Given the description of an element on the screen output the (x, y) to click on. 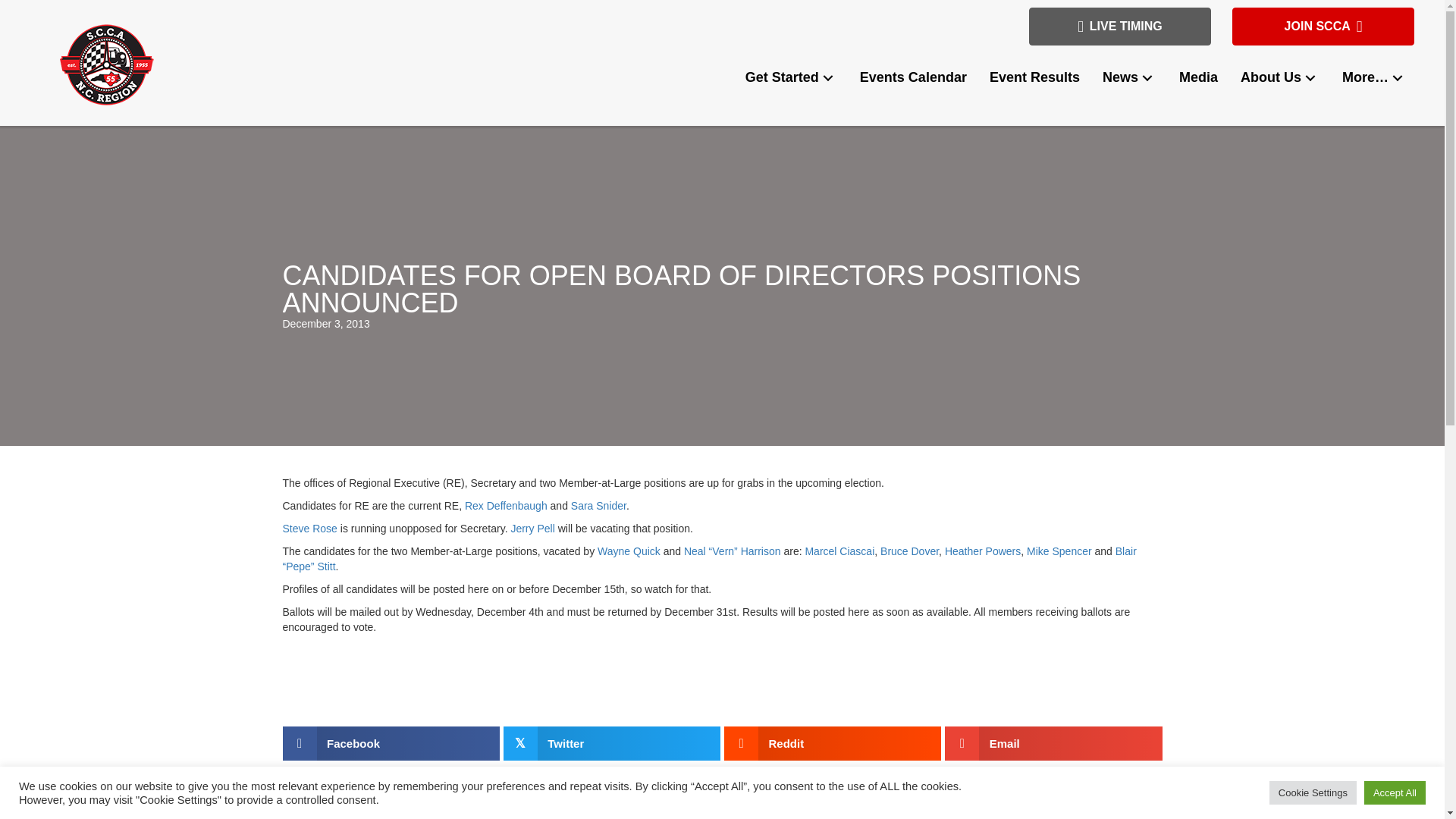
About Us (1279, 77)
Media (1198, 77)
Events Calendar (912, 77)
LIVE TIMING (1120, 26)
News (1128, 77)
Event Results (1034, 77)
JOIN SCCA (1322, 26)
ncrscca-logo-web (105, 64)
Get Started (791, 77)
